Given the description of an element on the screen output the (x, y) to click on. 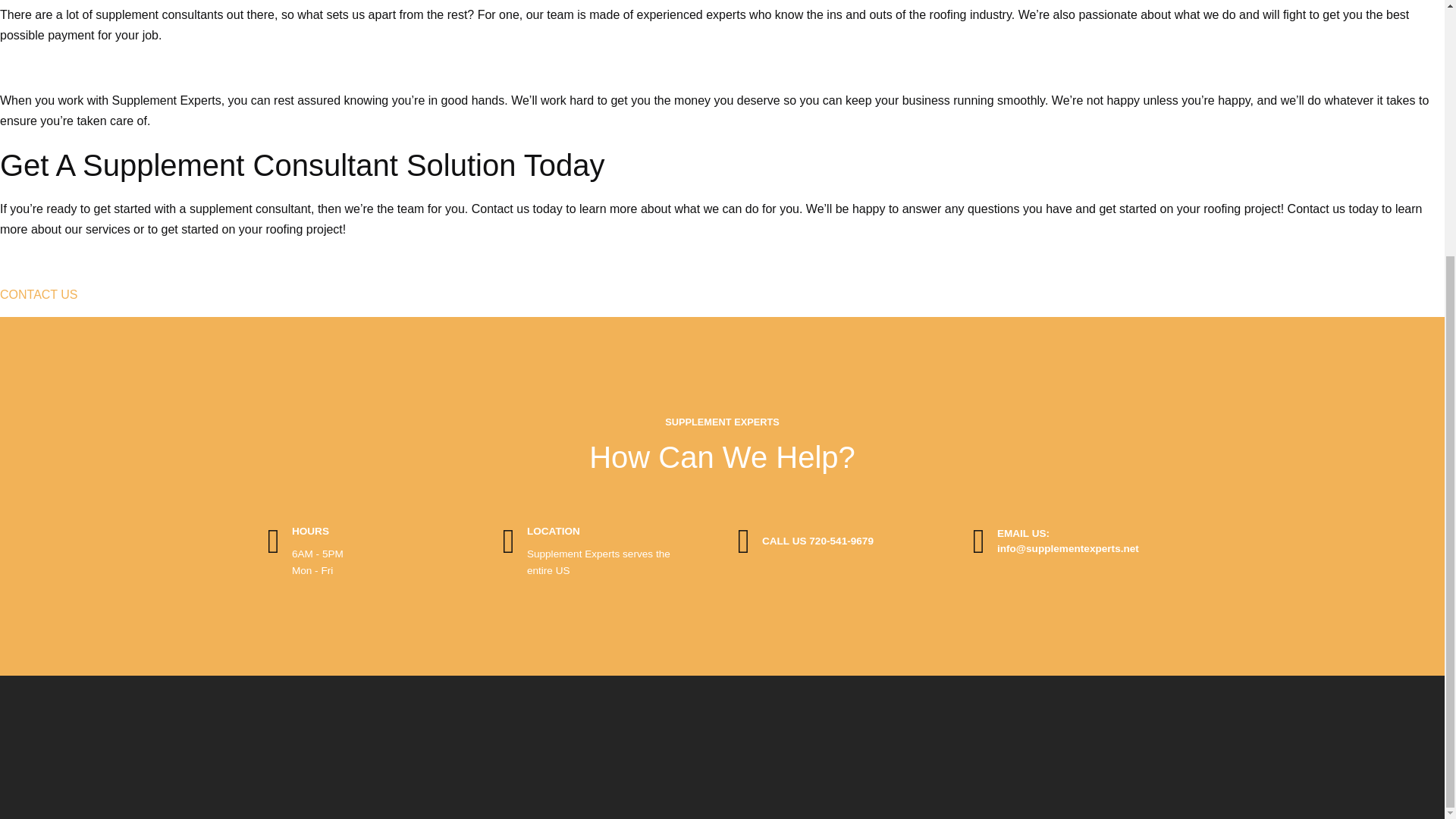
CALL US 720-541-9679 (742, 541)
CALL US 720-541-9679 (817, 541)
CONTACT US (39, 294)
